Given the description of an element on the screen output the (x, y) to click on. 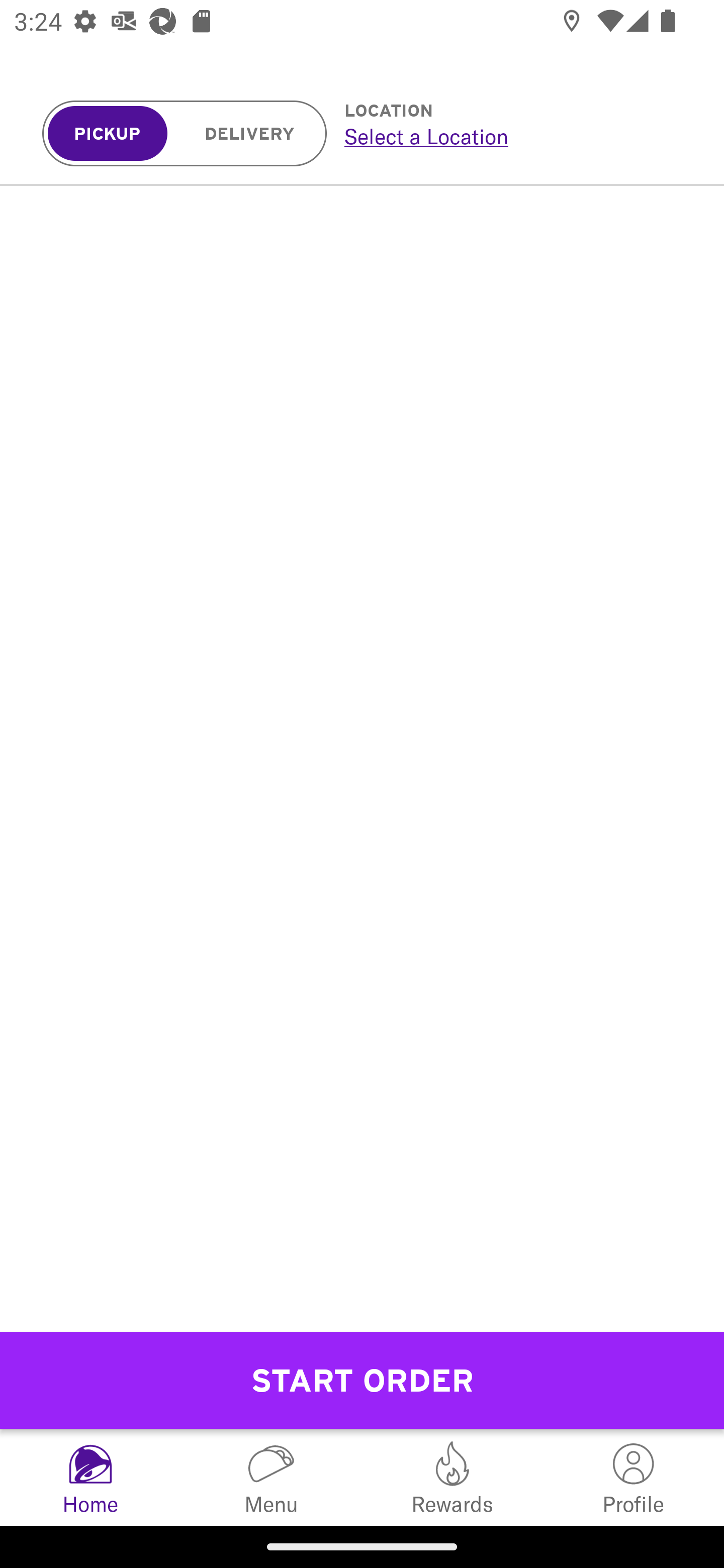
PICKUP (107, 133)
DELIVERY (249, 133)
Select a Location (511, 136)
START ORDER (362, 1379)
Home (90, 1476)
Menu (271, 1476)
Rewards (452, 1476)
My Info Profile (633, 1476)
